Given the description of an element on the screen output the (x, y) to click on. 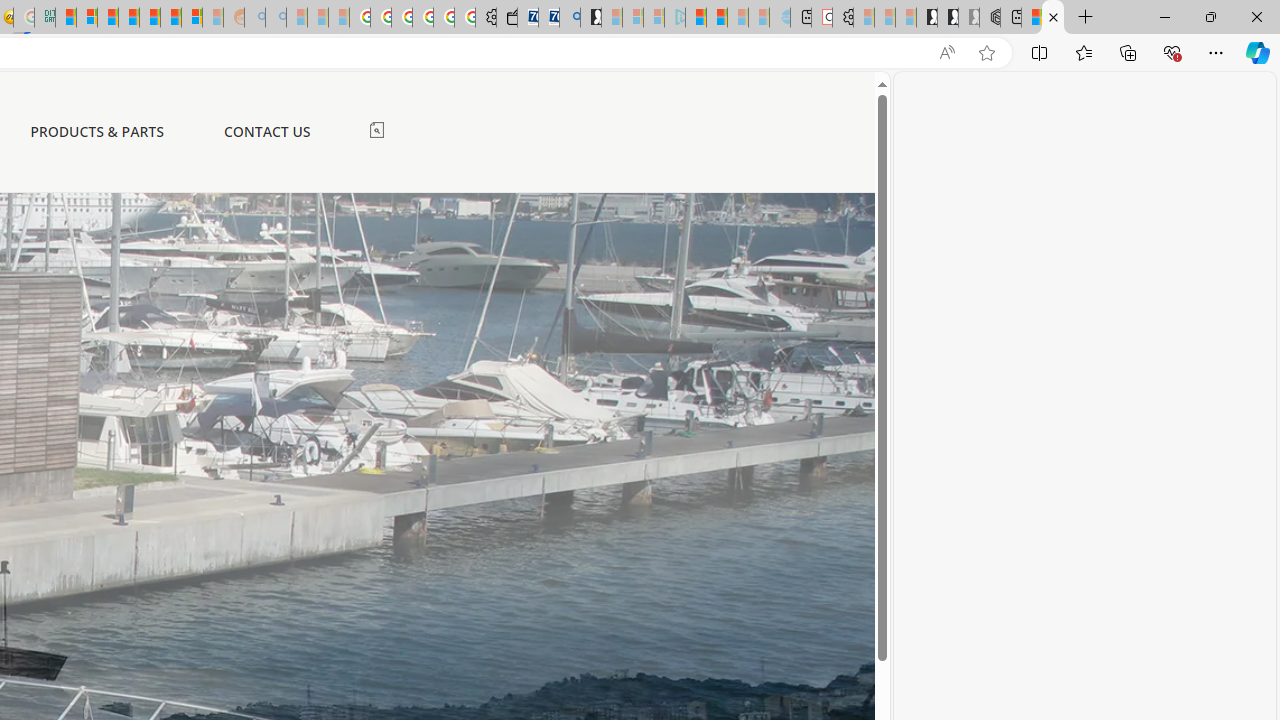
CONTACT US (266, 131)
Bing Real Estate - Home sales and rental listings (569, 17)
Kinda Frugal - MSN (170, 17)
PRODUCTS & PARTS (97, 132)
